Given the description of an element on the screen output the (x, y) to click on. 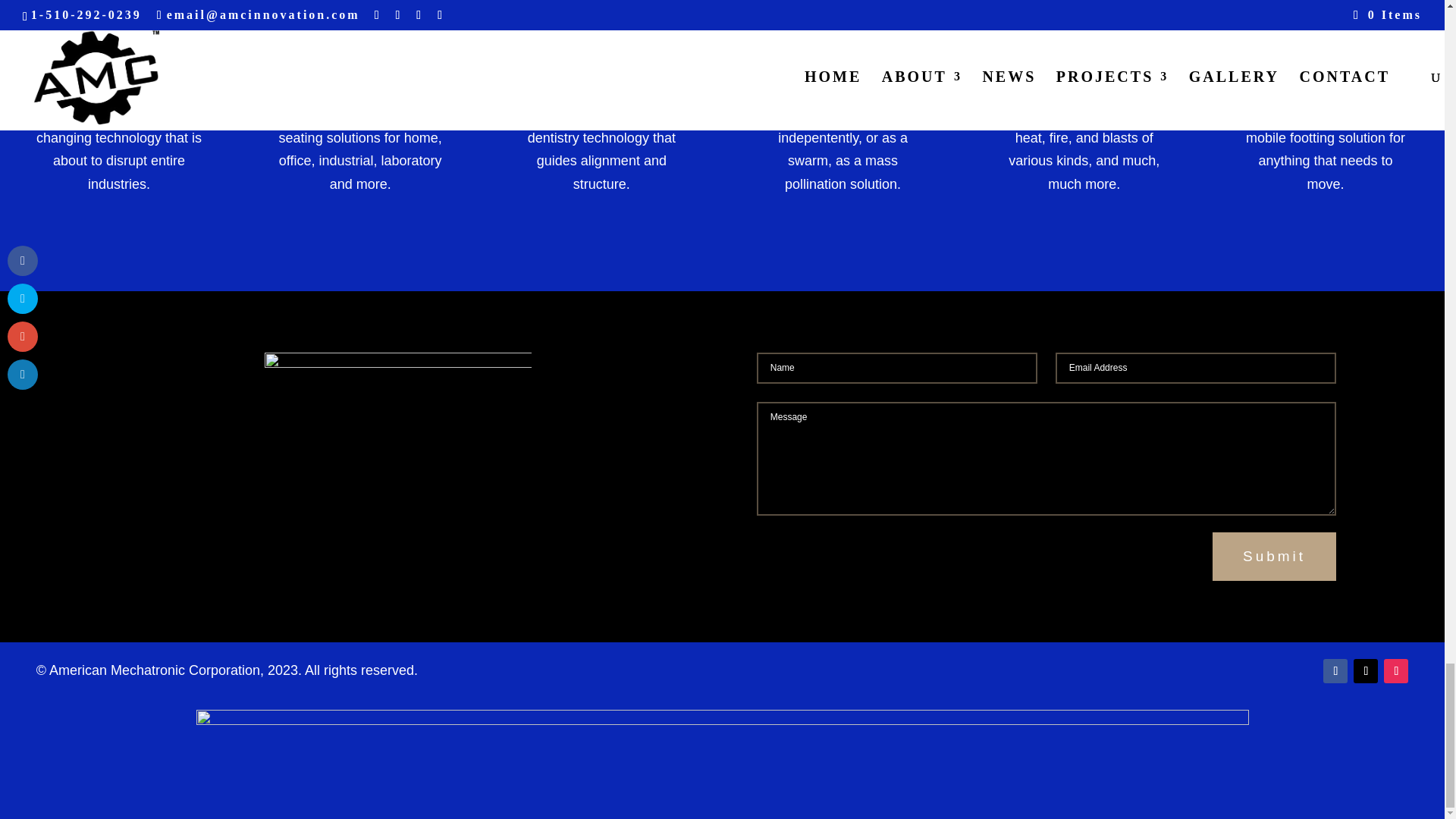
AMC STAMP LOGO rev 3 white (397, 455)
Follow on Instagram (1395, 671)
Follow on X (1365, 671)
Follow on Facebook (1335, 671)
